Given the description of an element on the screen output the (x, y) to click on. 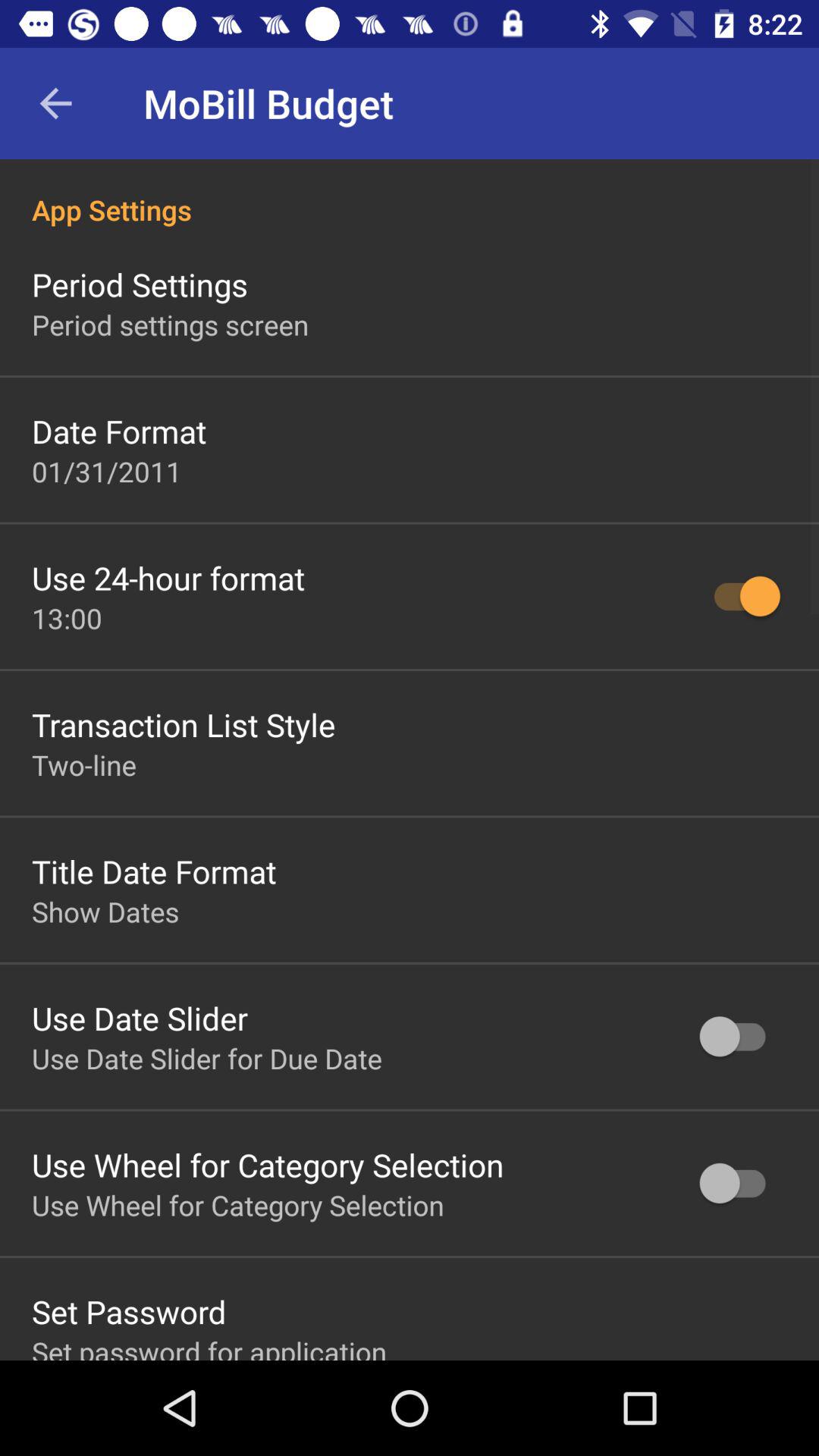
turn off use 24 hour app (167, 577)
